Given the description of an element on the screen output the (x, y) to click on. 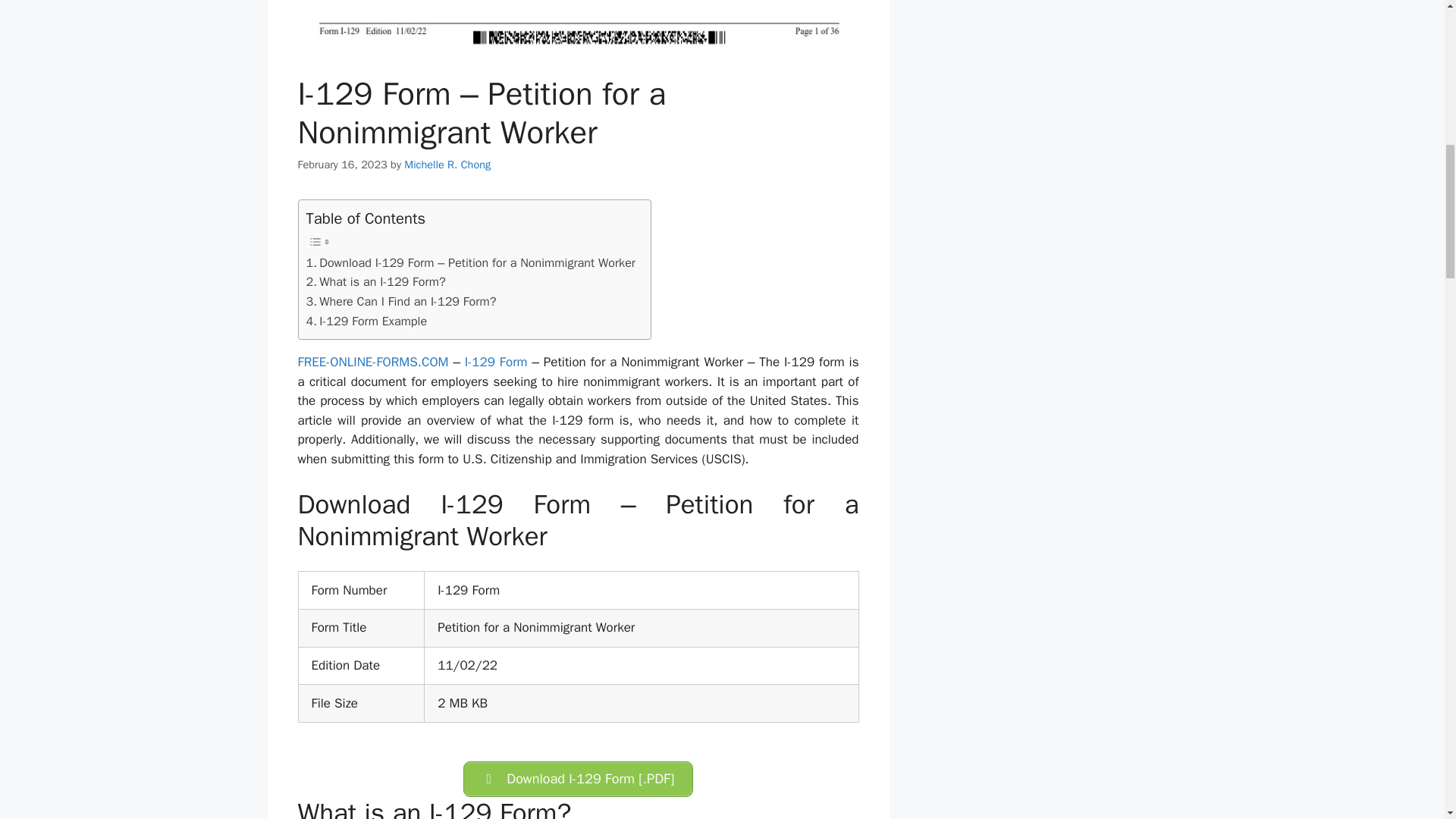
What is an I-129 Form? (375, 281)
Michelle R. Chong (447, 164)
I 129 Form Page 1 (578, 24)
I-129 Form Example (366, 321)
I-129 Form Example (366, 321)
What is an I-129 Form? (375, 281)
FREE-ONLINE-FORMS.COM (372, 361)
Download I-129 Form (578, 778)
Where Can I Find an I-129 Form? (400, 301)
Where Can I Find an I-129 Form? (400, 301)
View all posts by Michelle R. Chong (447, 164)
I-129 Form (495, 361)
